Given the description of an element on the screen output the (x, y) to click on. 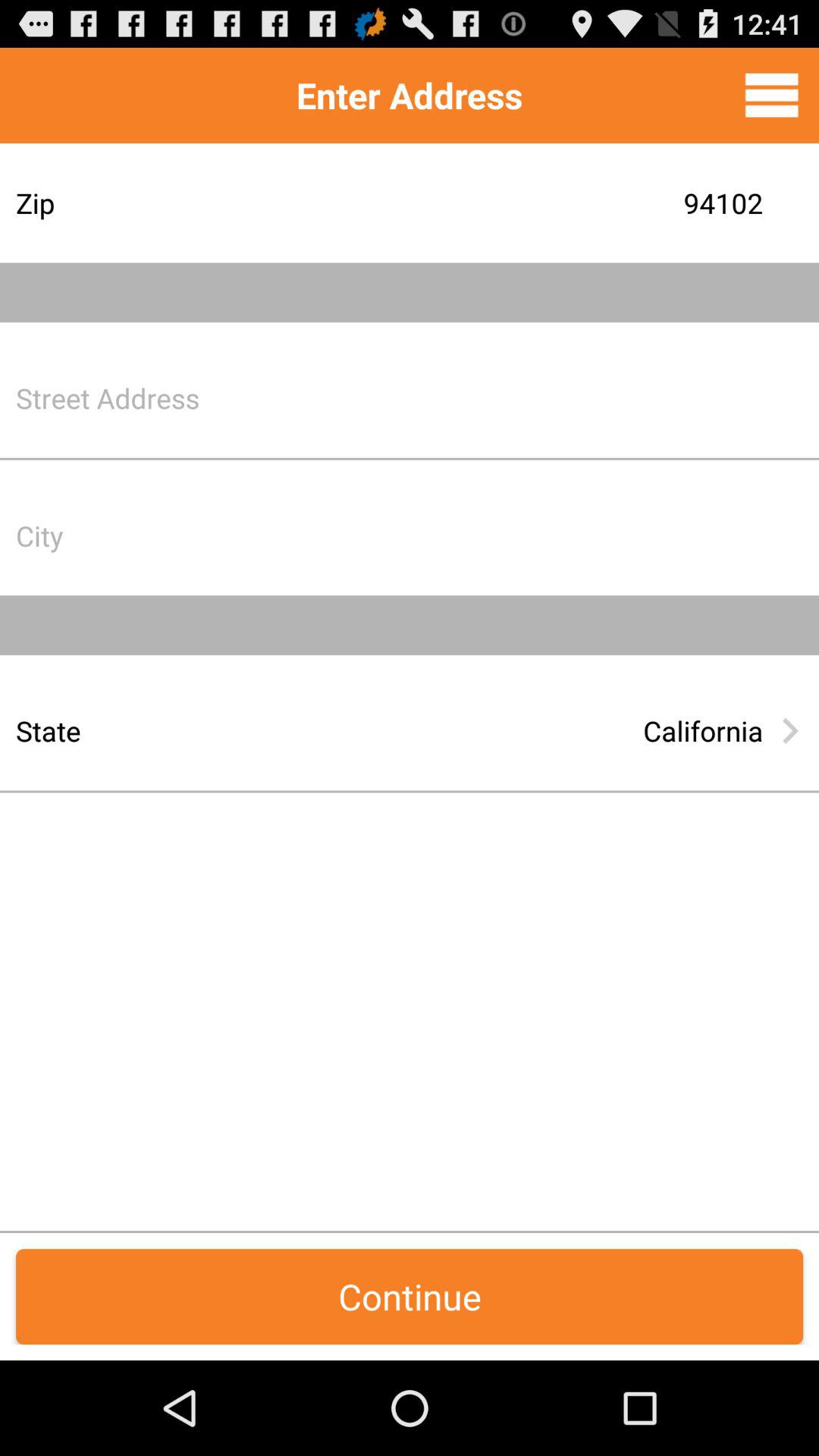
tap the icon next to the zip item (527, 202)
